Given the description of an element on the screen output the (x, y) to click on. 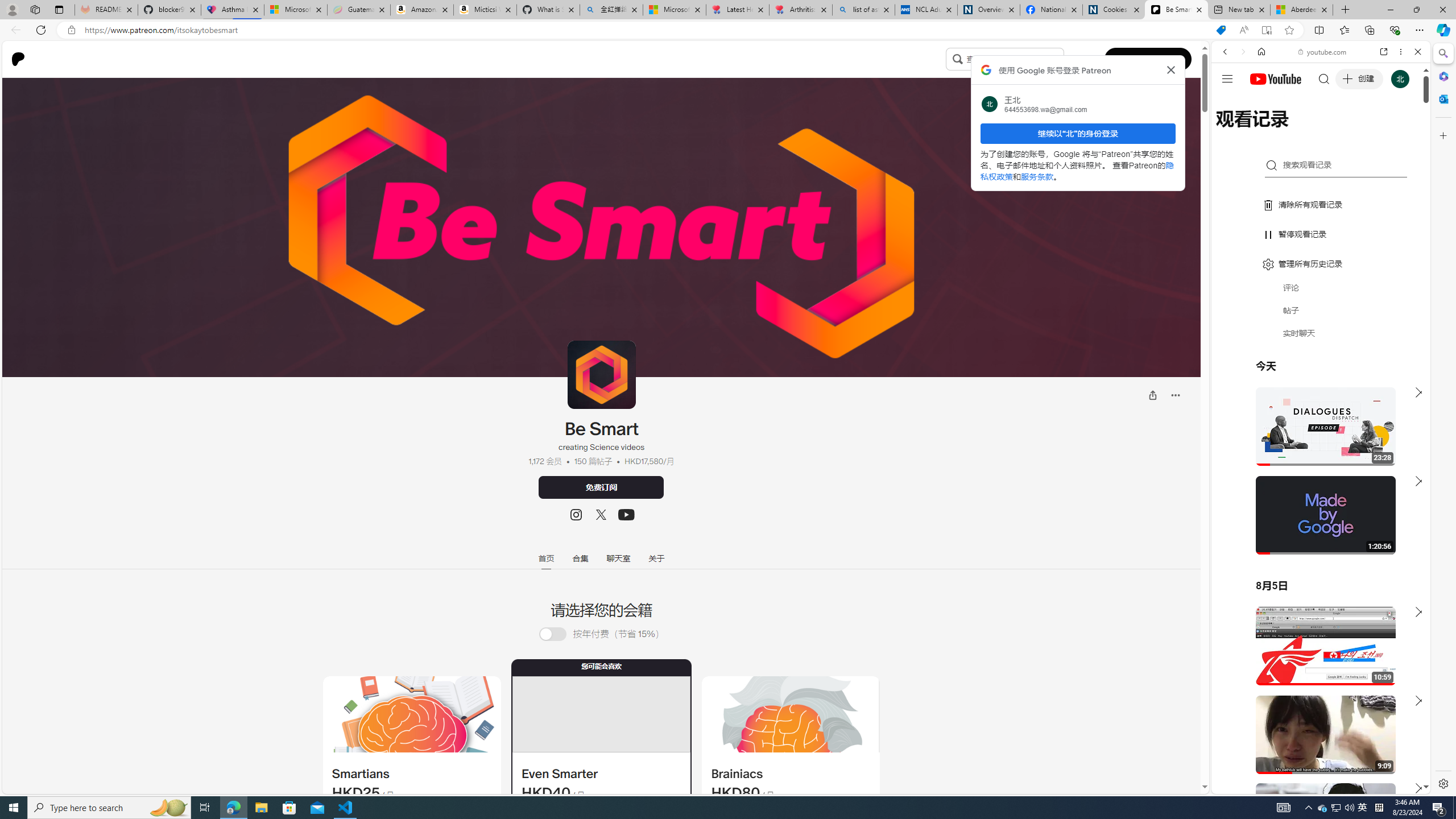
Show More Music (1390, 310)
